Given the description of an element on the screen output the (x, y) to click on. 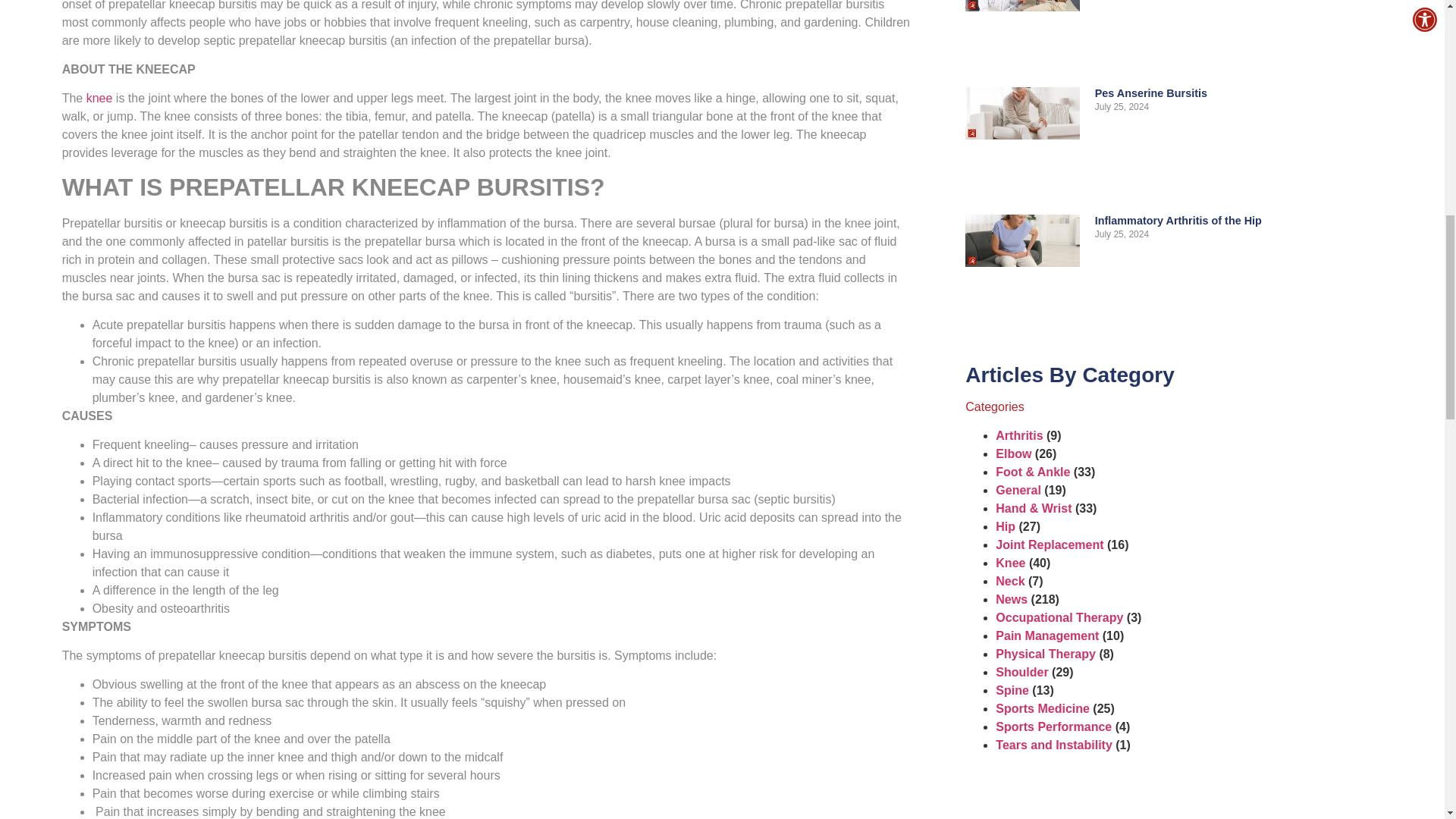
knee (99, 97)
